Given the description of an element on the screen output the (x, y) to click on. 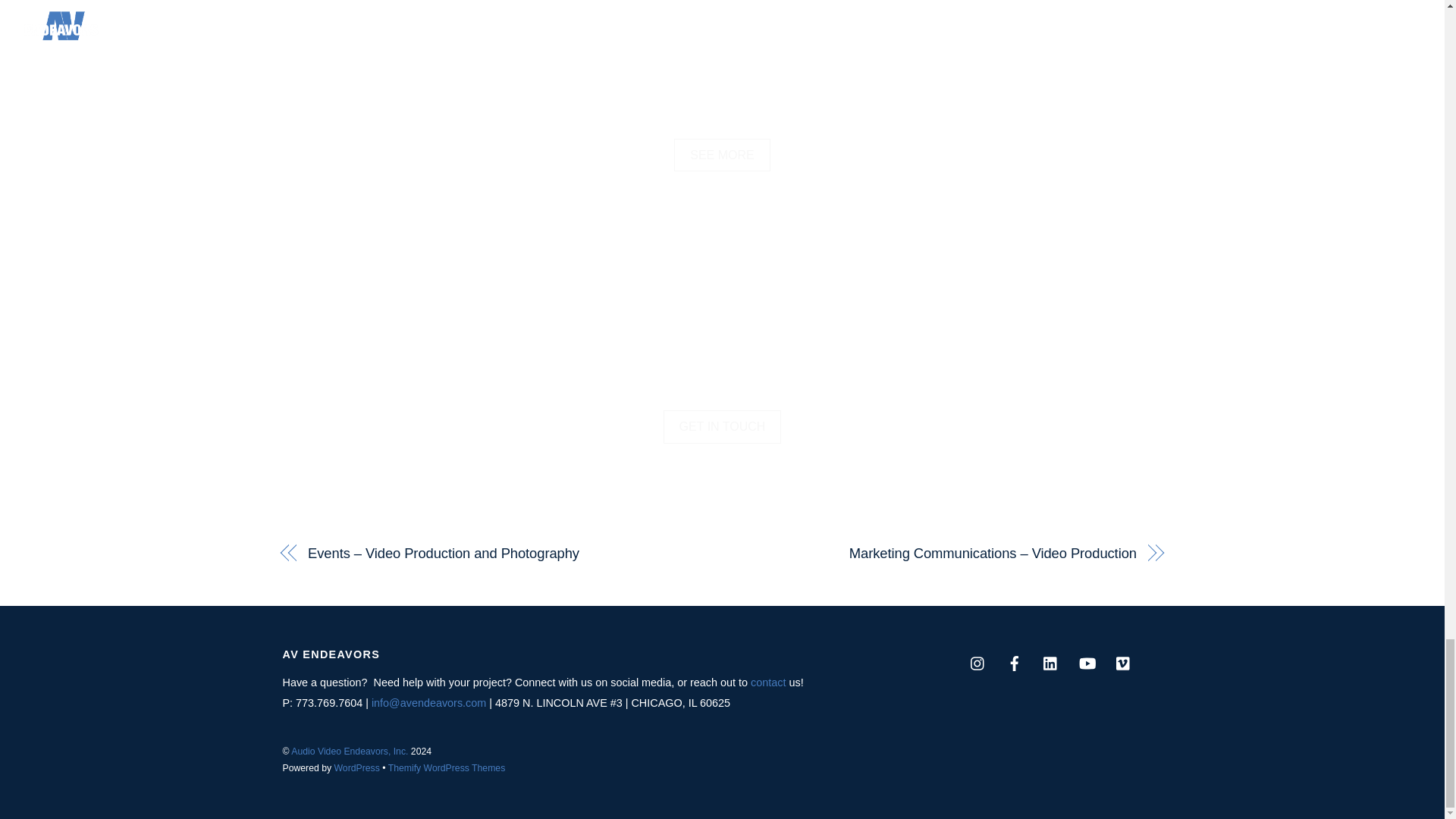
contact (768, 682)
GET IN TOUCH (722, 426)
WordPress (357, 767)
Audio Video Endeavors, Inc. (349, 751)
SEE MORE (722, 154)
Themify WordPress Themes (446, 767)
